Given the description of an element on the screen output the (x, y) to click on. 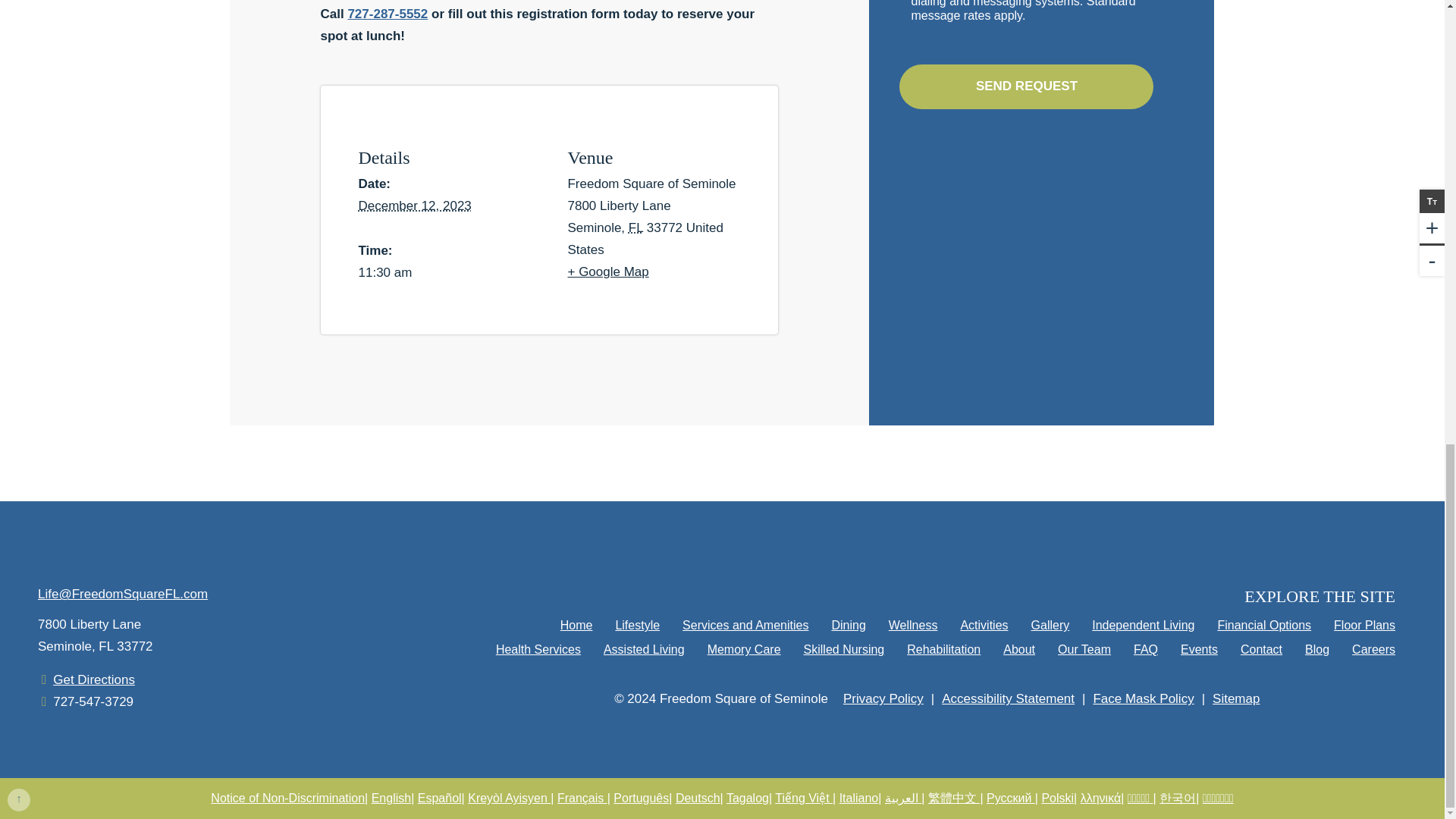
2023-12-12 (453, 273)
Phone (92, 702)
Florida (635, 227)
Lifecare services (1336, 699)
Click to view a Google Map (662, 272)
Send Request (1026, 86)
Link to Google Map (93, 680)
Link to Google Map (216, 636)
Facebook (108, 743)
Freedom Square of Seminole (216, 546)
727-287-5552 (387, 13)
2023-12-12 (414, 205)
Send Request (1026, 86)
